Given the description of an element on the screen output the (x, y) to click on. 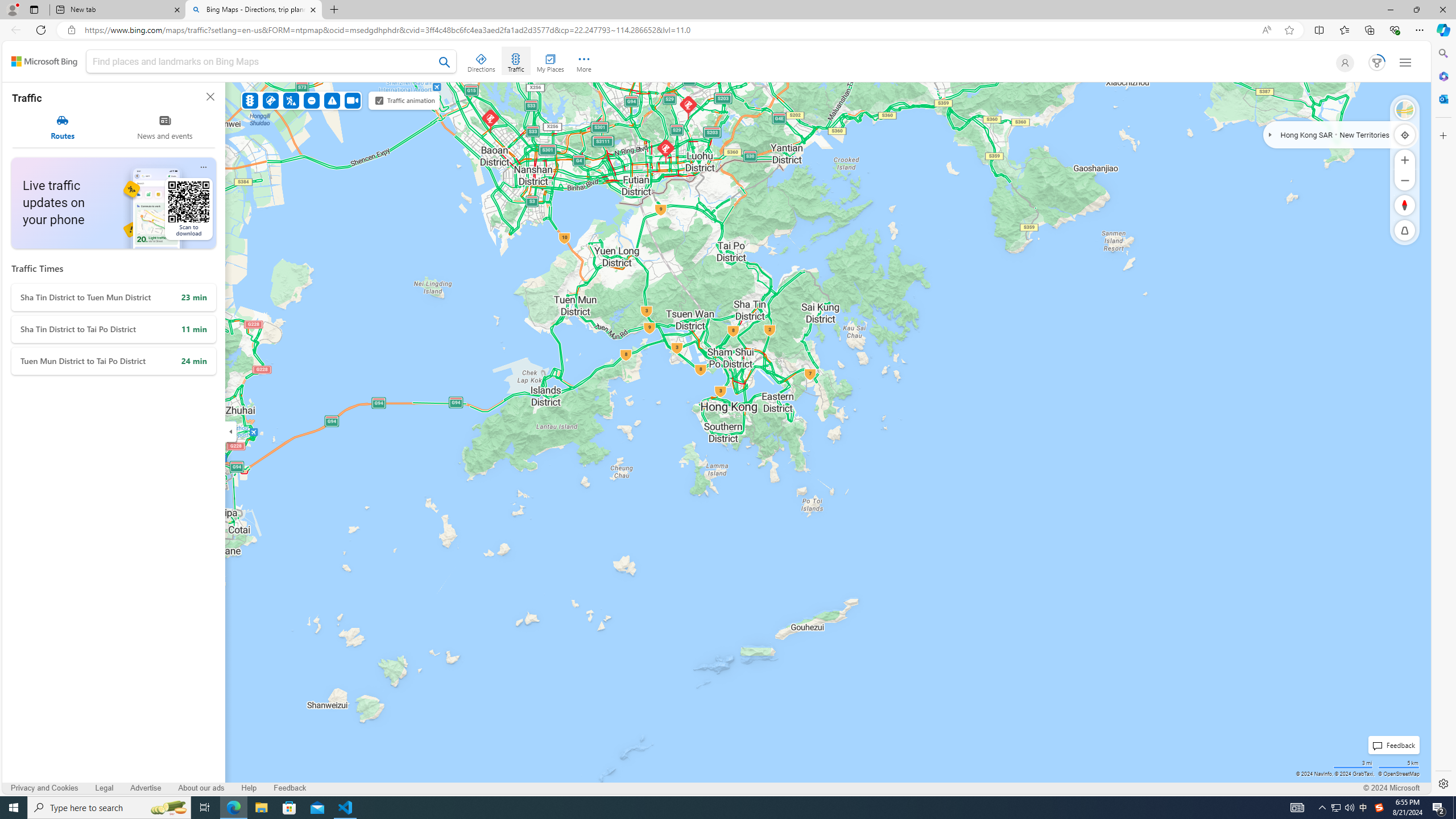
Expand/Collapse Cards (230, 431)
More (583, 60)
Live traffic updates on your phone Scan to download (113, 202)
Select Style (1404, 109)
Locate me (1404, 134)
My Places (549, 60)
Sha Tin District to Tuen Mun District (113, 297)
Tuen Mun District to Tai Po District (113, 361)
My Places (549, 60)
Back to Bing search (44, 60)
Satellite (1404, 109)
About our ads (200, 787)
